Given the description of an element on the screen output the (x, y) to click on. 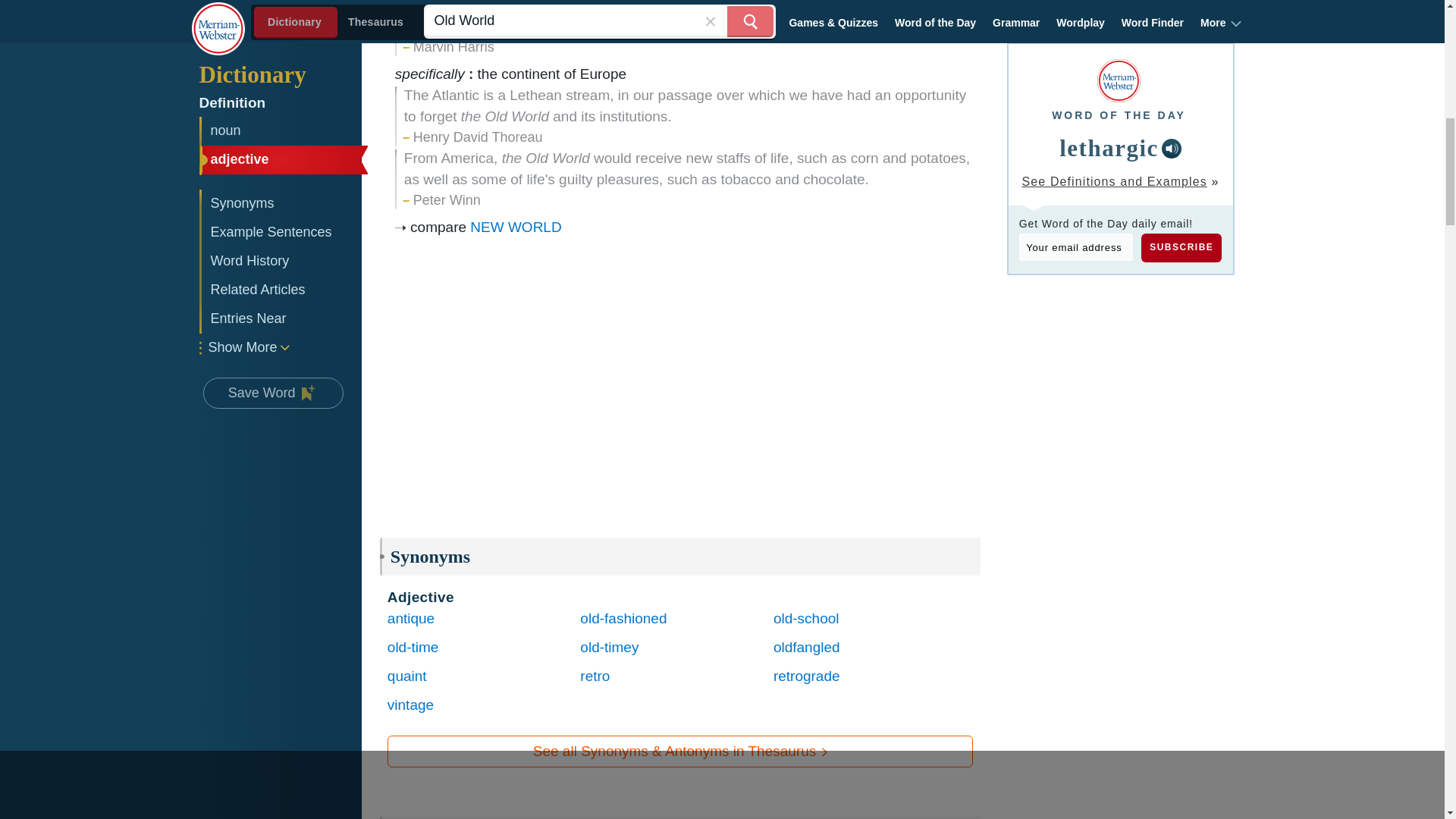
Listen to the pronunciation of lethargic (1170, 148)
Merriam Webster (1118, 80)
SUBSCRIBE (1181, 247)
